Given the description of an element on the screen output the (x, y) to click on. 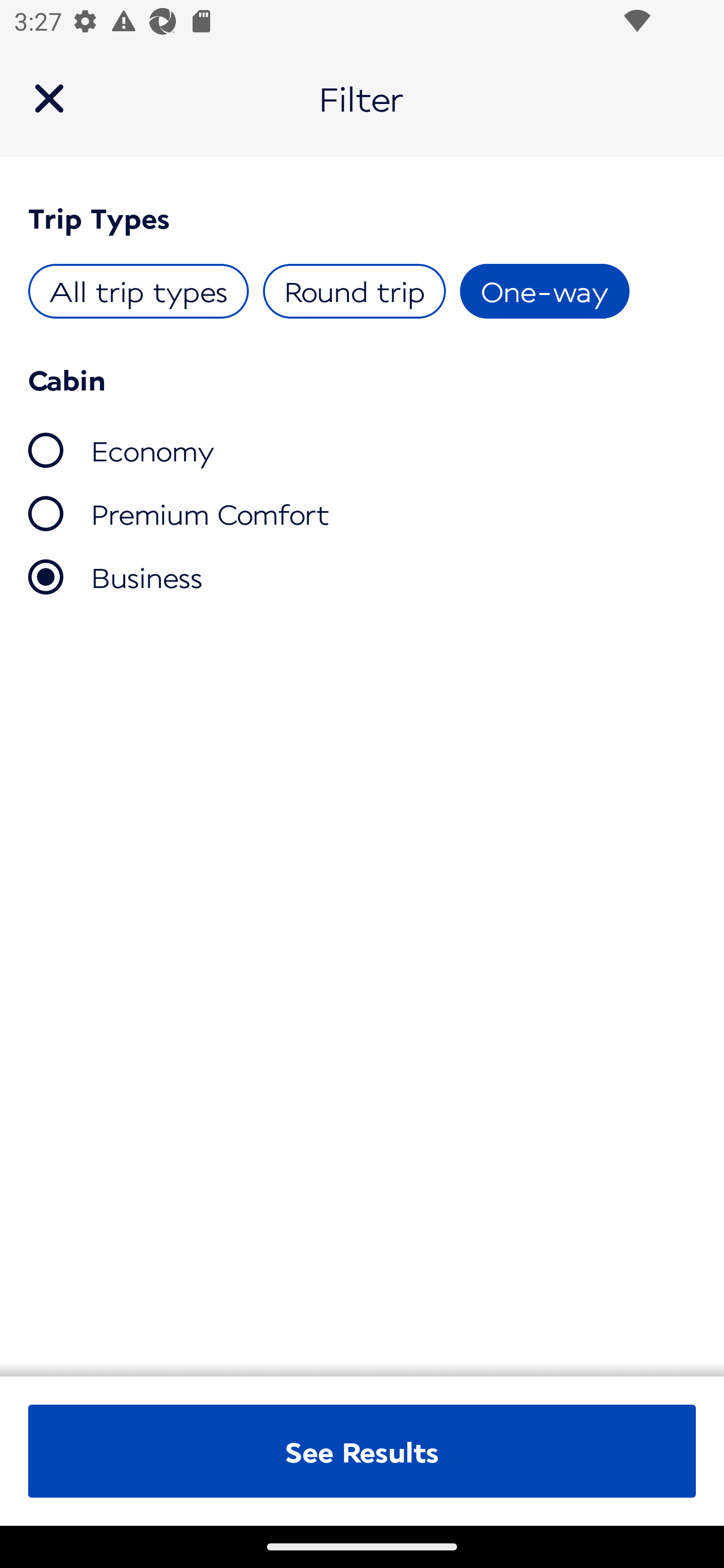
All trip types (138, 291)
Round trip (353, 291)
One-way (544, 291)
See Results (361, 1450)
